Given the description of an element on the screen output the (x, y) to click on. 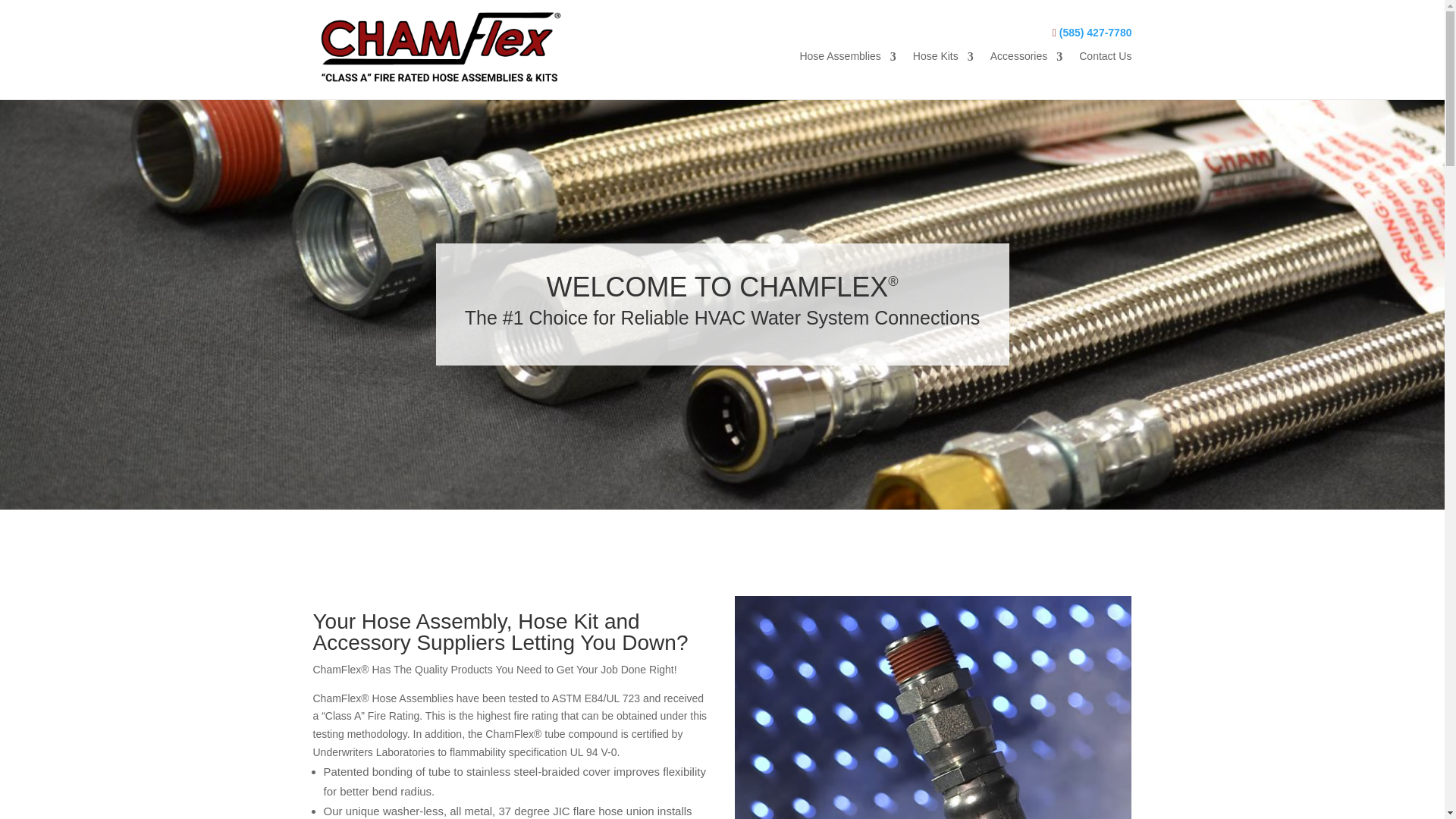
Contact Us (1104, 59)
chamflex-logo-tag (441, 47)
Hose Assemblies (847, 59)
Hose Kits (943, 59)
Accessories (1026, 59)
